Given the description of an element on the screen output the (x, y) to click on. 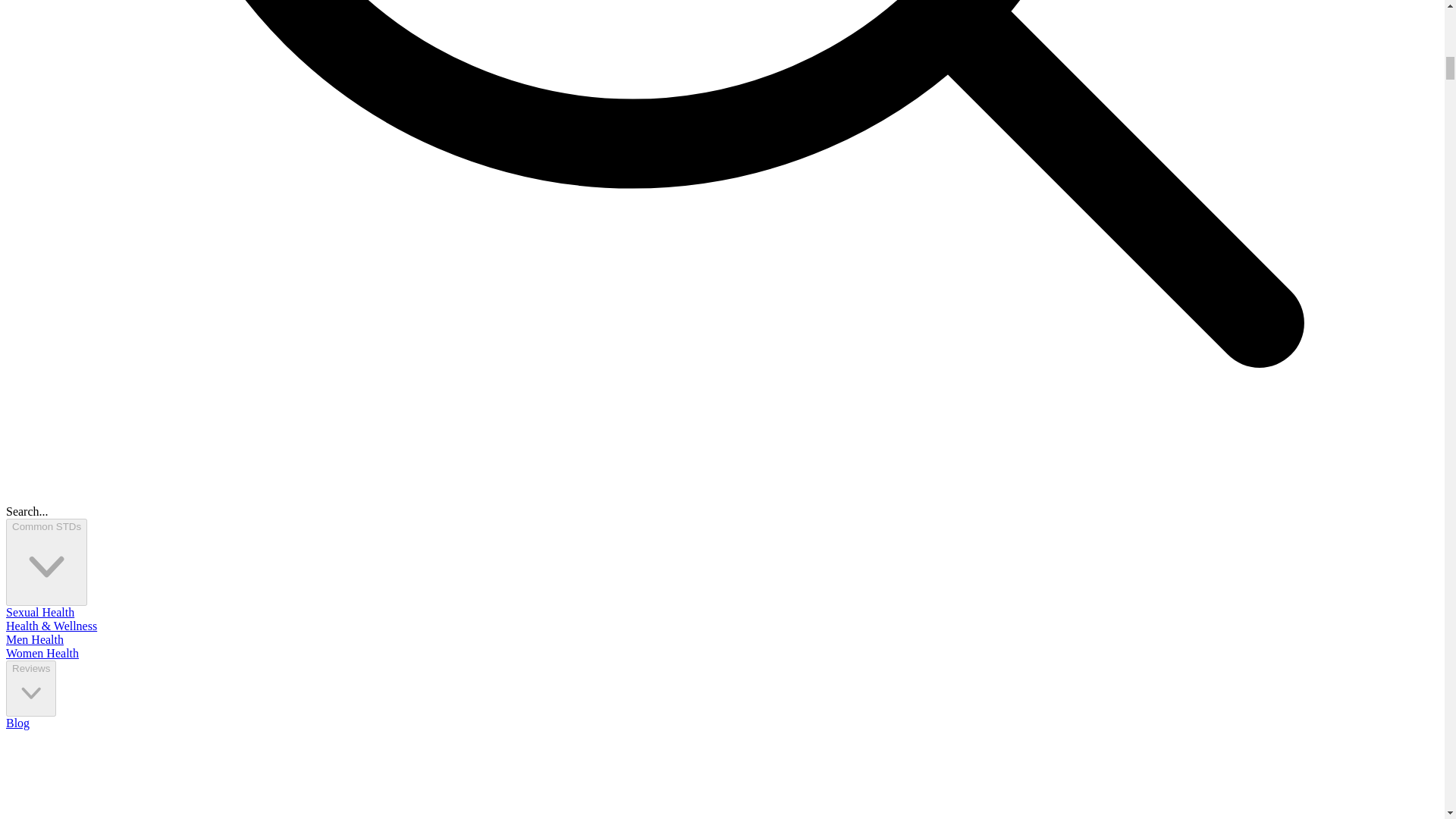
Blog (17, 722)
Sexual Health (39, 612)
Common STDs (46, 562)
Women Health (41, 653)
Reviews (30, 688)
Men Health (34, 639)
